Given the description of an element on the screen output the (x, y) to click on. 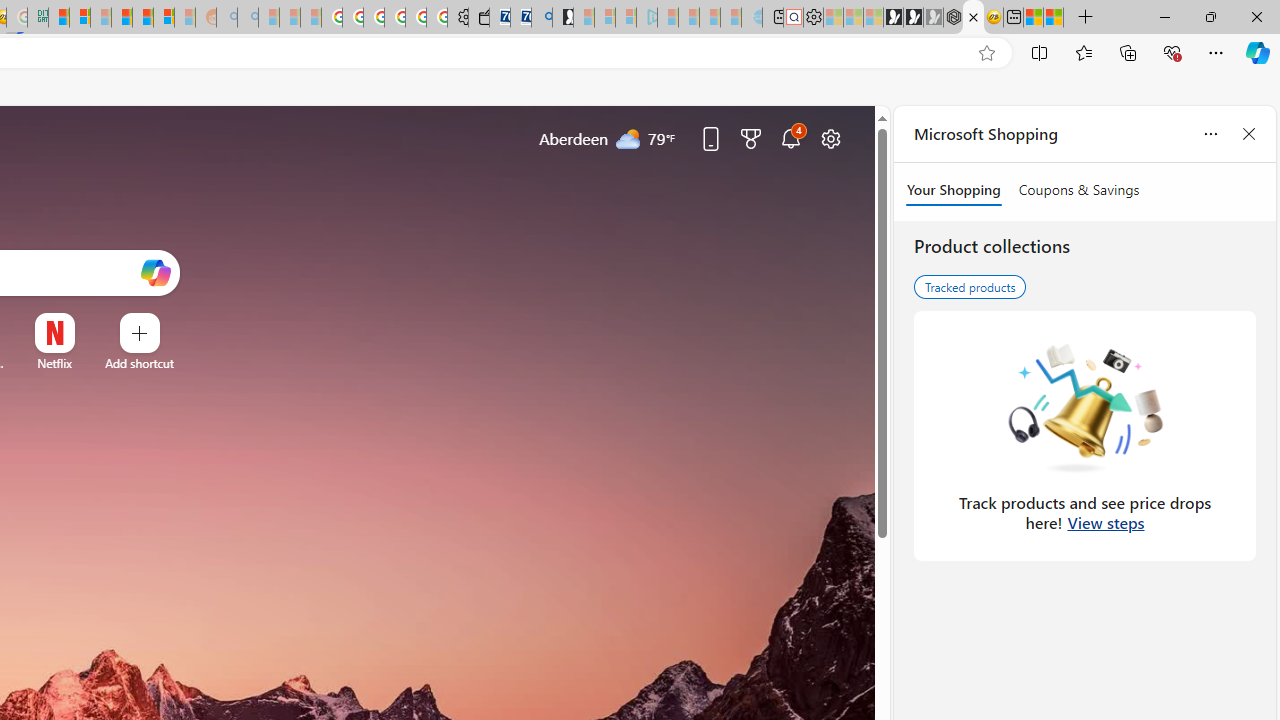
Wildlife - MSN (1033, 17)
Mostly cloudy (628, 137)
Page settings (831, 138)
